Given the description of an element on the screen output the (x, y) to click on. 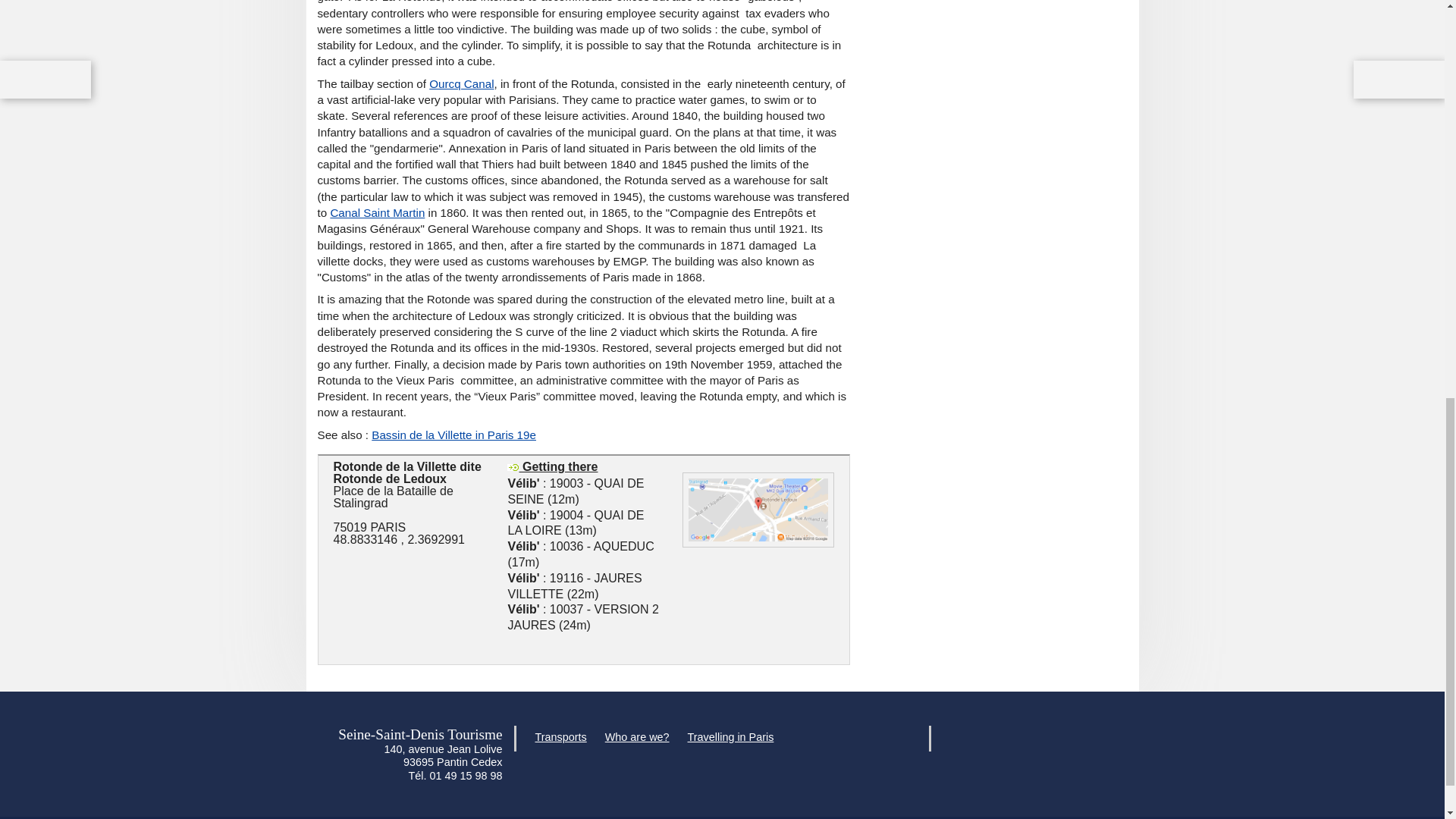
2.3692991 (435, 539)
48.8833146 (365, 539)
